Given the description of an element on the screen output the (x, y) to click on. 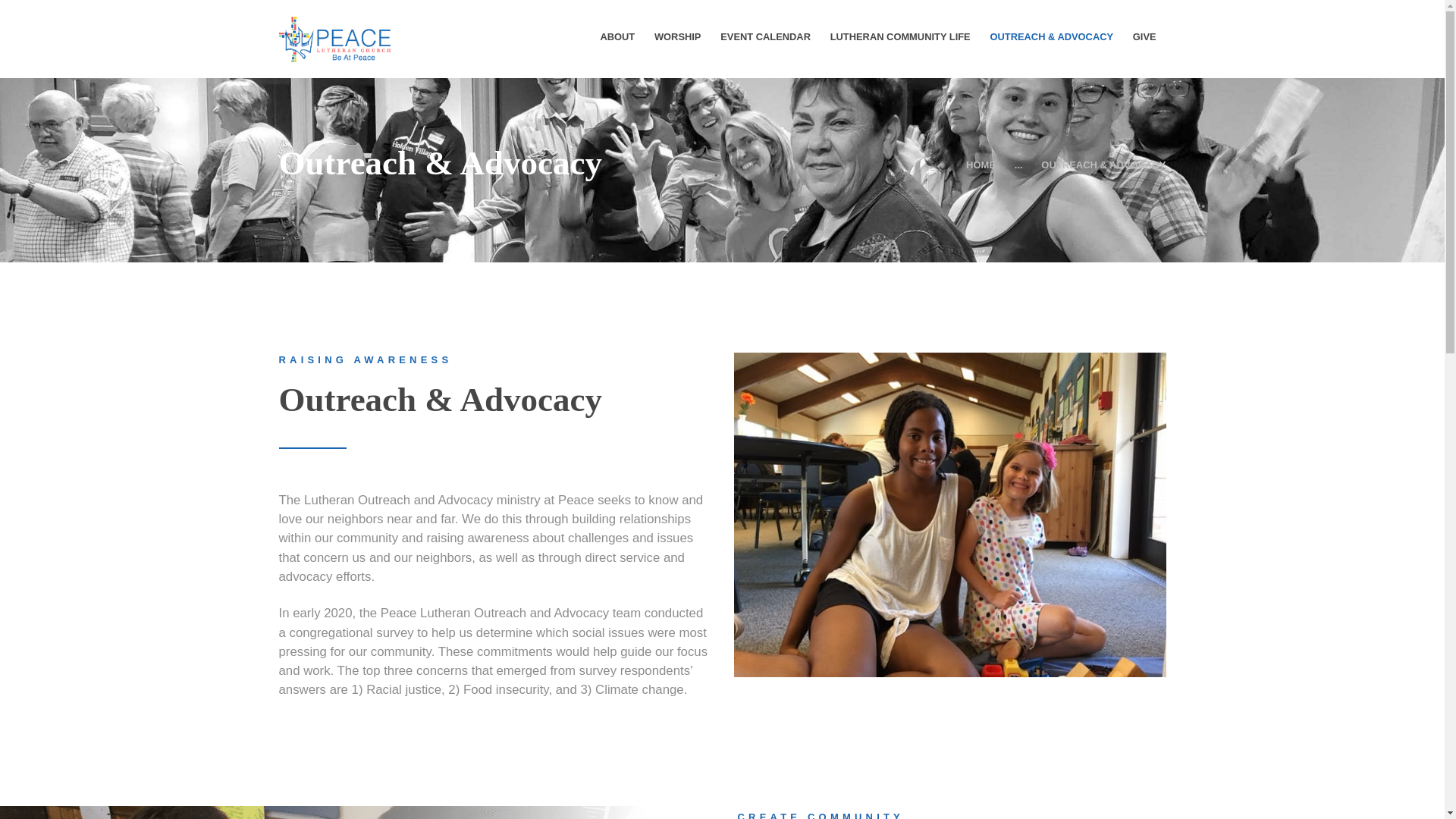
EVENT CALENDAR (765, 37)
GIVE (1144, 37)
LUTHERAN COMMUNITY LIFE (900, 37)
WORSHIP (677, 37)
ABOUT (618, 37)
